Given the description of an element on the screen output the (x, y) to click on. 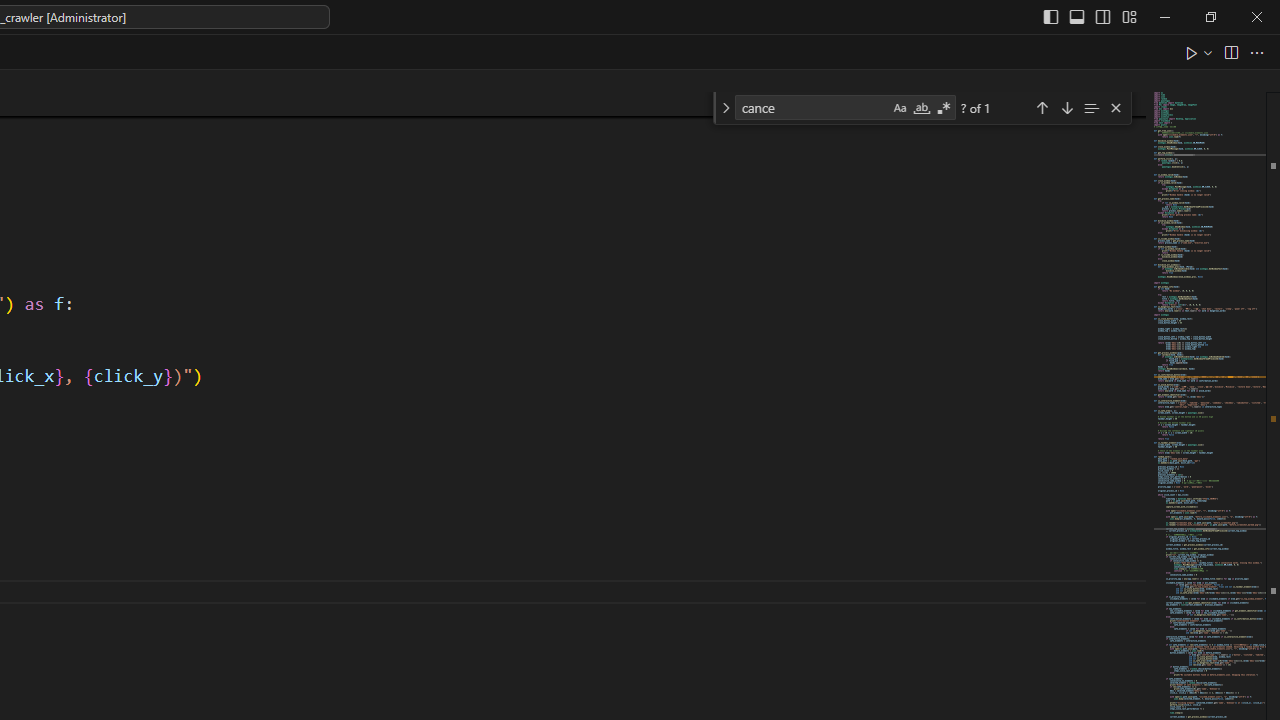
Class: NetUIImage (523, 188)
Replace... (617, 161)
Subtitle (1130, 601)
Restore Down (1172, 32)
Styles... (538, 226)
Ribbon Display Options (1246, 221)
b63ee27f-4cf3-414c-9275-d88e3f90795e (1130, 399)
No Spacing (1130, 457)
Select (618, 196)
